Given the description of an element on the screen output the (x, y) to click on. 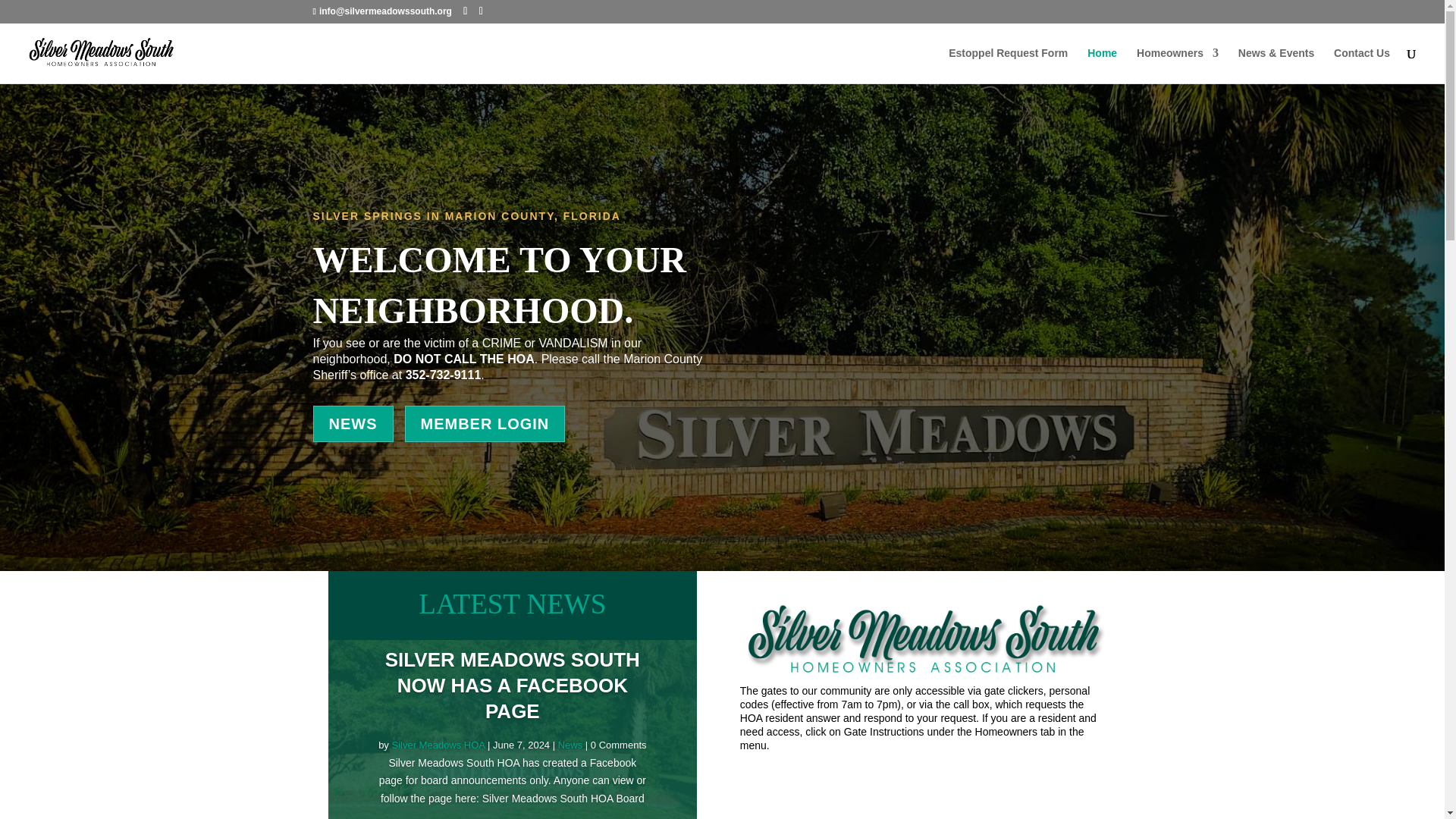
MEMBER LOGIN (485, 423)
Estoppel Request Form (1008, 65)
Posts by Silver Meadows HOA (437, 745)
NEWS (353, 423)
Contact Us (1361, 65)
Silver Meadows HOA (437, 745)
SILVER MEADOWS SOUTH NOW HAS A FACEBOOK PAGE (512, 685)
Homeowners (1177, 65)
352-732-9111 (443, 374)
News (570, 745)
